Given the description of an element on the screen output the (x, y) to click on. 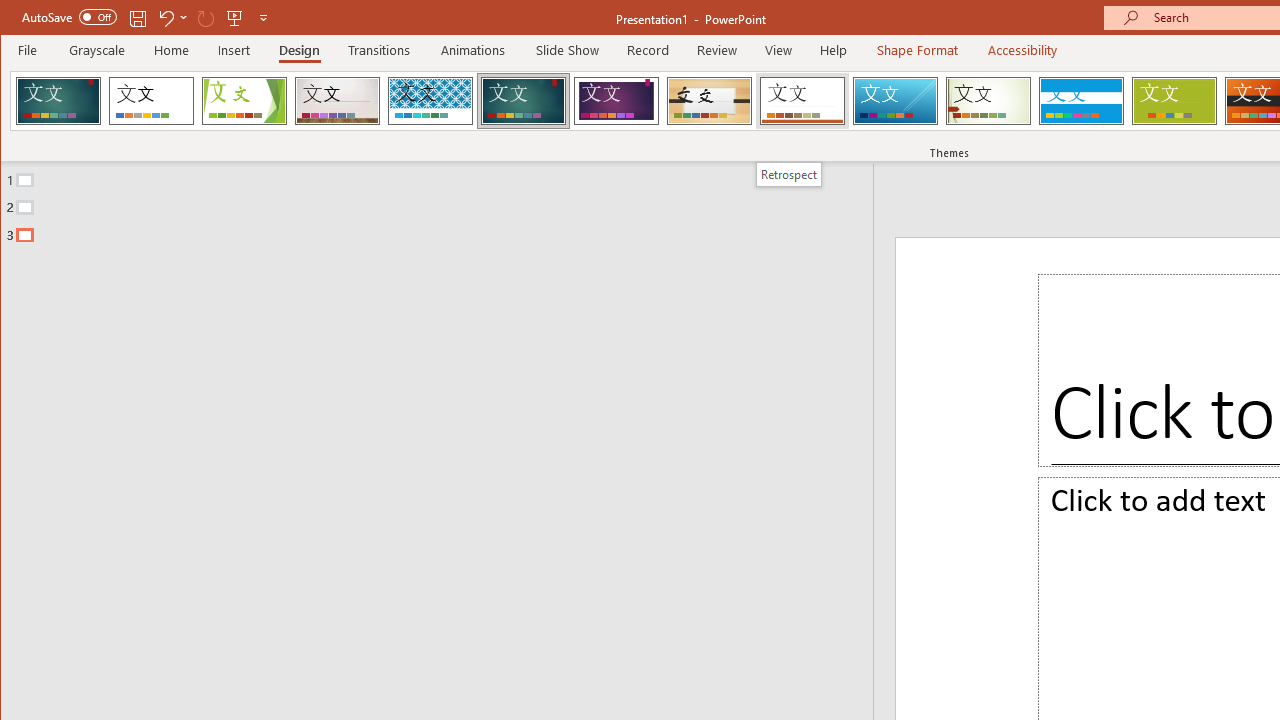
Office Theme (151, 100)
Gallery (337, 100)
Retrospect (802, 100)
Banded (1081, 100)
Retrospect (788, 174)
Grayscale (97, 50)
Integral (430, 100)
